Given the description of an element on the screen output the (x, y) to click on. 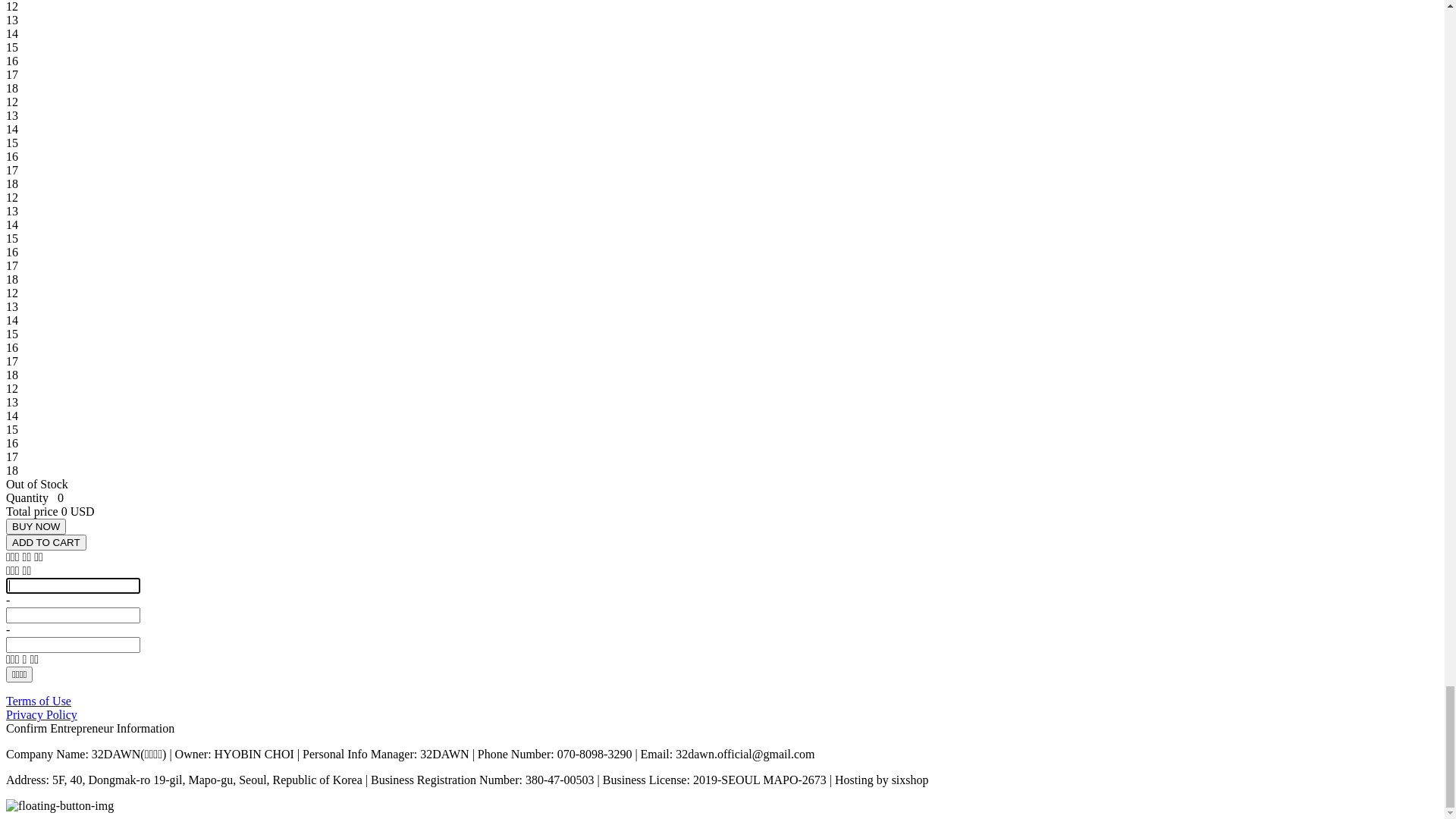
ALTER-EARTH Element type: text (107, 297)
THE ODYSSEY Element type: text (107, 94)
ARTPIECE Element type: text (94, 190)
JEWELLERY Element type: text (101, 176)
ABOUT Element type: text (57, 67)
PRESS Element type: text (54, 203)
DESERT FLAME Element type: text (110, 108)
FAIRY IN THE DARK Element type: text (123, 325)
COLLECTION Element type: text (74, 81)
JEWELLERY Element type: text (101, 352)
DESERT FLAME Element type: text (110, 284)
SHOP Element type: text (51, 162)
PRESS Element type: text (54, 379)
ABOUT Element type: text (57, 243)
ABOUT Element type: text (57, 640)
SHOP Element type: text (51, 338)
FAIRY IN THE DARK Element type: text (123, 722)
FLOWER ARCHITECT Element type: text (126, 135)
FAIRY IN THE DARK Element type: text (123, 149)
ARTPIECE Element type: text (94, 763)
STOCKIST Element type: text (65, 217)
PRESS Element type: text (54, 777)
THE ODYSSEY Element type: text (107, 270)
STOCKIST Element type: text (65, 790)
JEWELLERY Element type: text (101, 749)
FLOWER ARCHITECT Element type: text (126, 311)
SHOP Element type: text (51, 736)
STOCKIST Element type: text (65, 393)
ALTER-EARTH Element type: text (107, 695)
THE ODYSSEY Element type: text (107, 668)
COLLECTION Element type: text (74, 654)
ALTER-EARTH Element type: text (107, 122)
DESERT FLAME Element type: text (110, 681)
ARTPIECE Element type: text (94, 366)
COLLECTION Element type: text (74, 257)
FLOWER ARCHITECT Element type: text (126, 708)
